Given the description of an element on the screen output the (x, y) to click on. 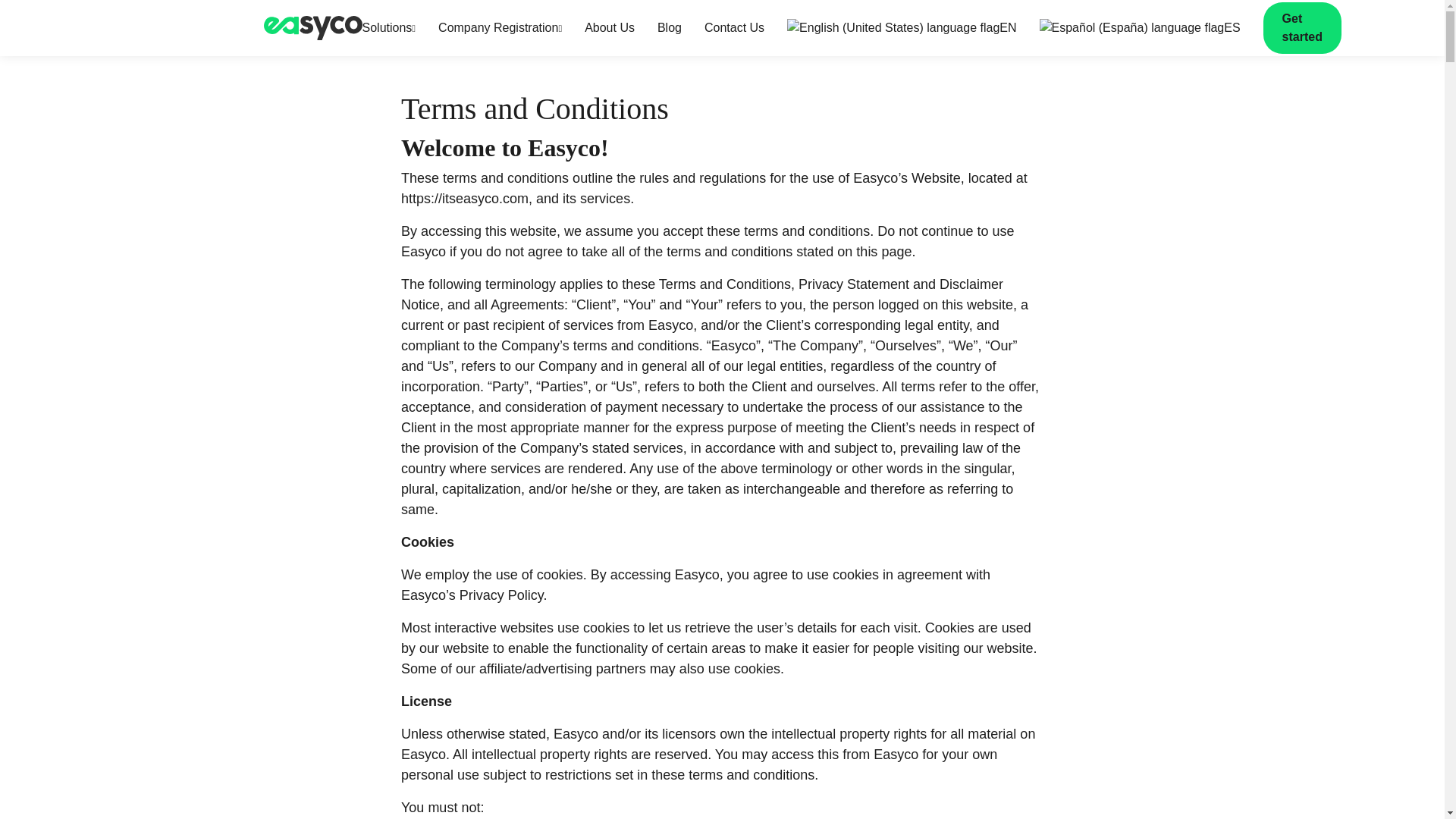
ES (1139, 28)
About Us (609, 28)
Get started (1301, 28)
Company Registration (500, 28)
Solutions (389, 28)
EN (901, 28)
Contact Us (734, 28)
